Given the description of an element on the screen output the (x, y) to click on. 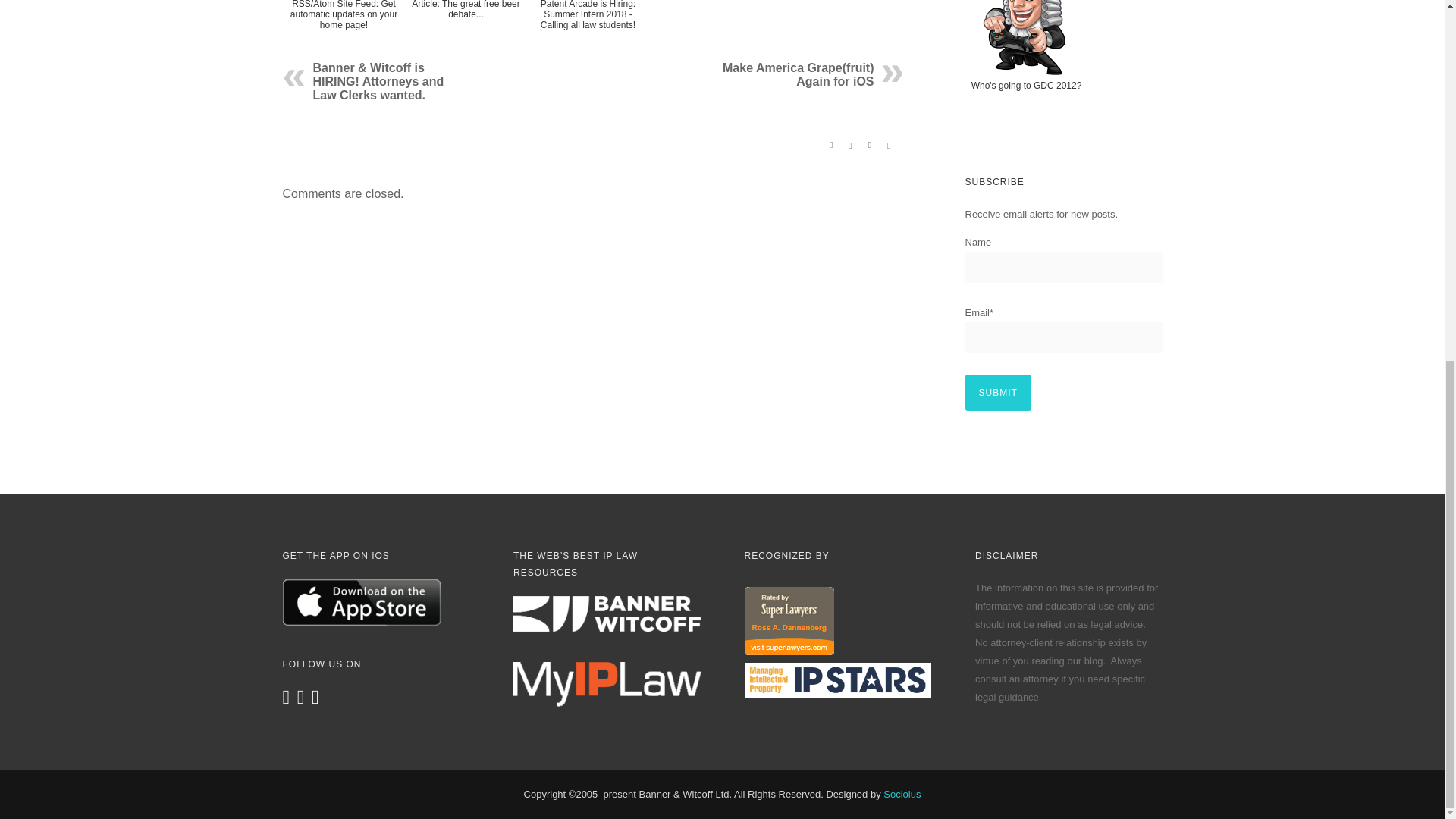
Submit (996, 392)
Article: The great free beer debate... (465, 28)
